Given the description of an element on the screen output the (x, y) to click on. 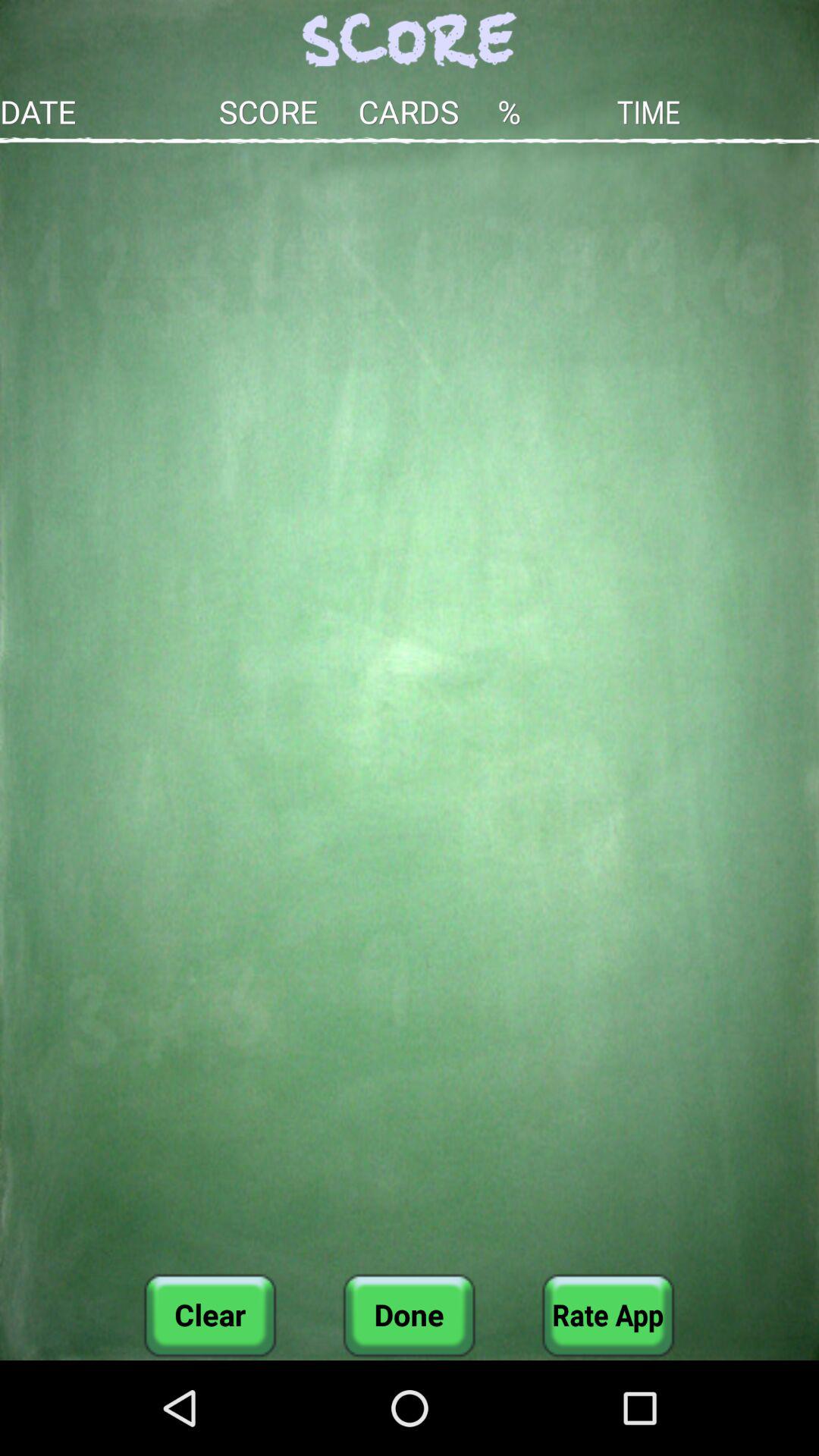
press the button above clear item (409, 708)
